Given the description of an element on the screen output the (x, y) to click on. 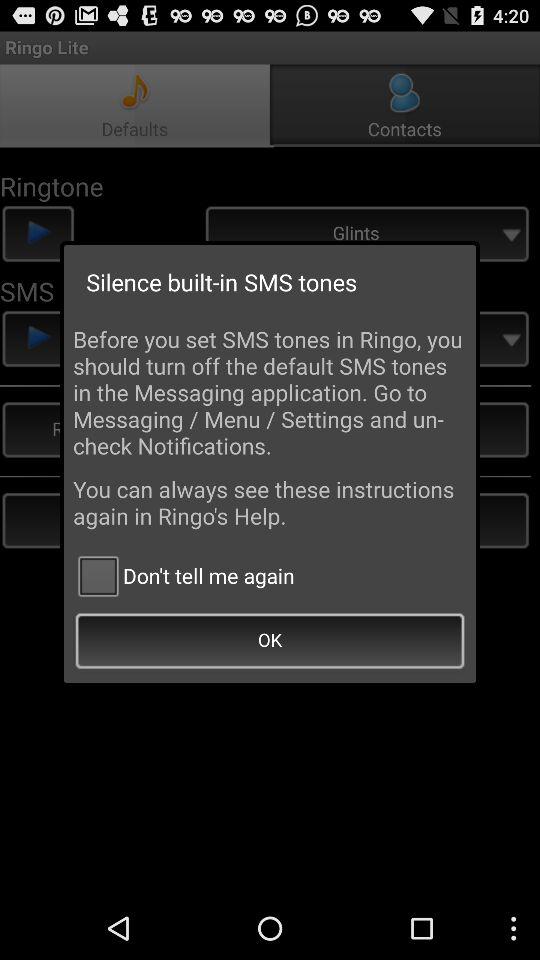
open item at the bottom (269, 641)
